Given the description of an element on the screen output the (x, y) to click on. 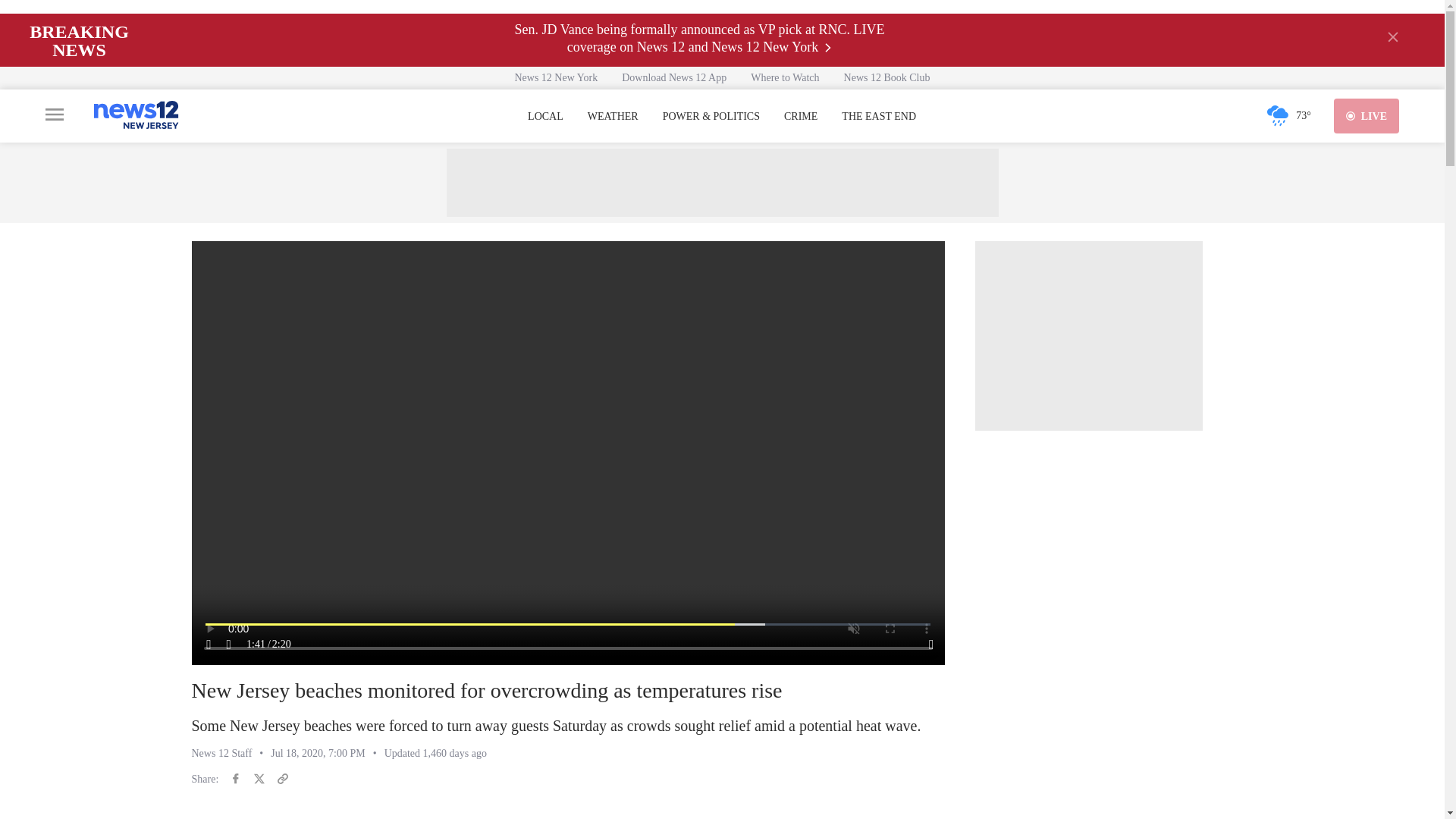
News 12 New York (556, 78)
Where to Watch (784, 78)
LOCAL (545, 116)
CRIME (800, 116)
News 12 Book Club (886, 78)
WEATHER (613, 116)
Rain (1277, 115)
Unmute (229, 644)
LIVE (1366, 115)
Pause (208, 644)
THE EAST END (878, 116)
Download News 12 App (673, 78)
Fullscreen (931, 644)
